Given the description of an element on the screen output the (x, y) to click on. 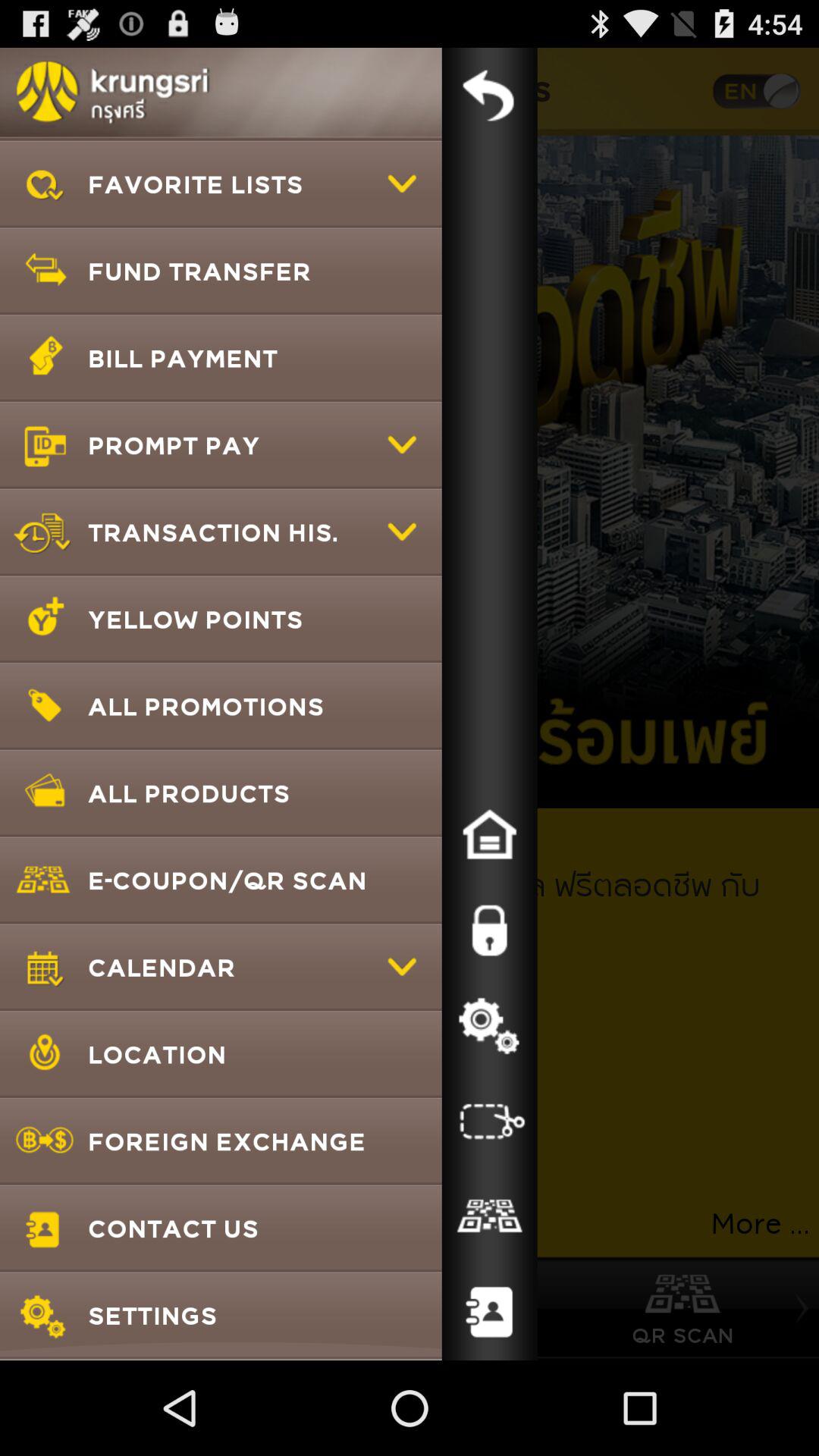
select contacts (489, 1312)
